Given the description of an element on the screen output the (x, y) to click on. 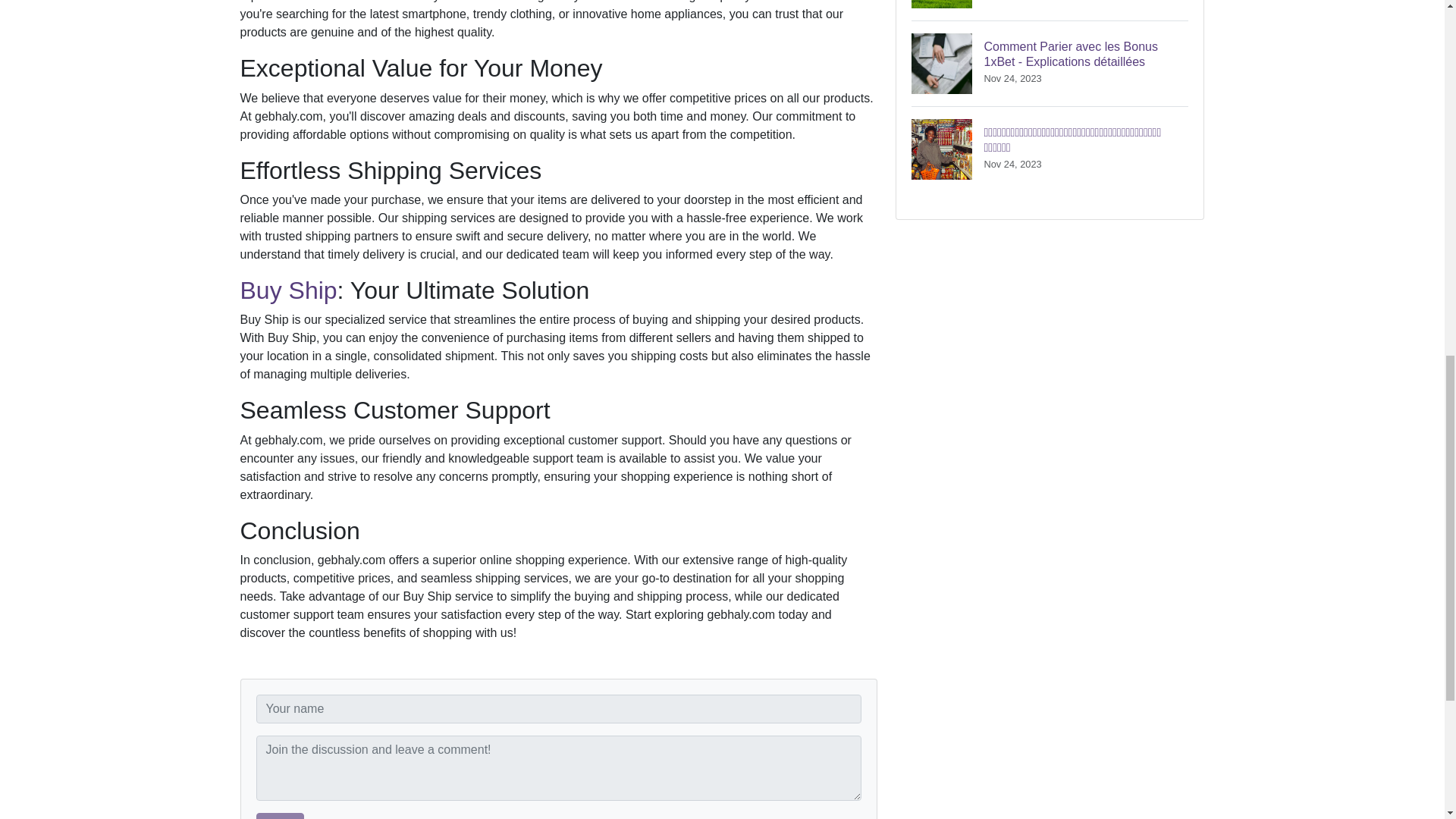
Send (280, 816)
Buy Ship (288, 289)
Send (280, 816)
